Given the description of an element on the screen output the (x, y) to click on. 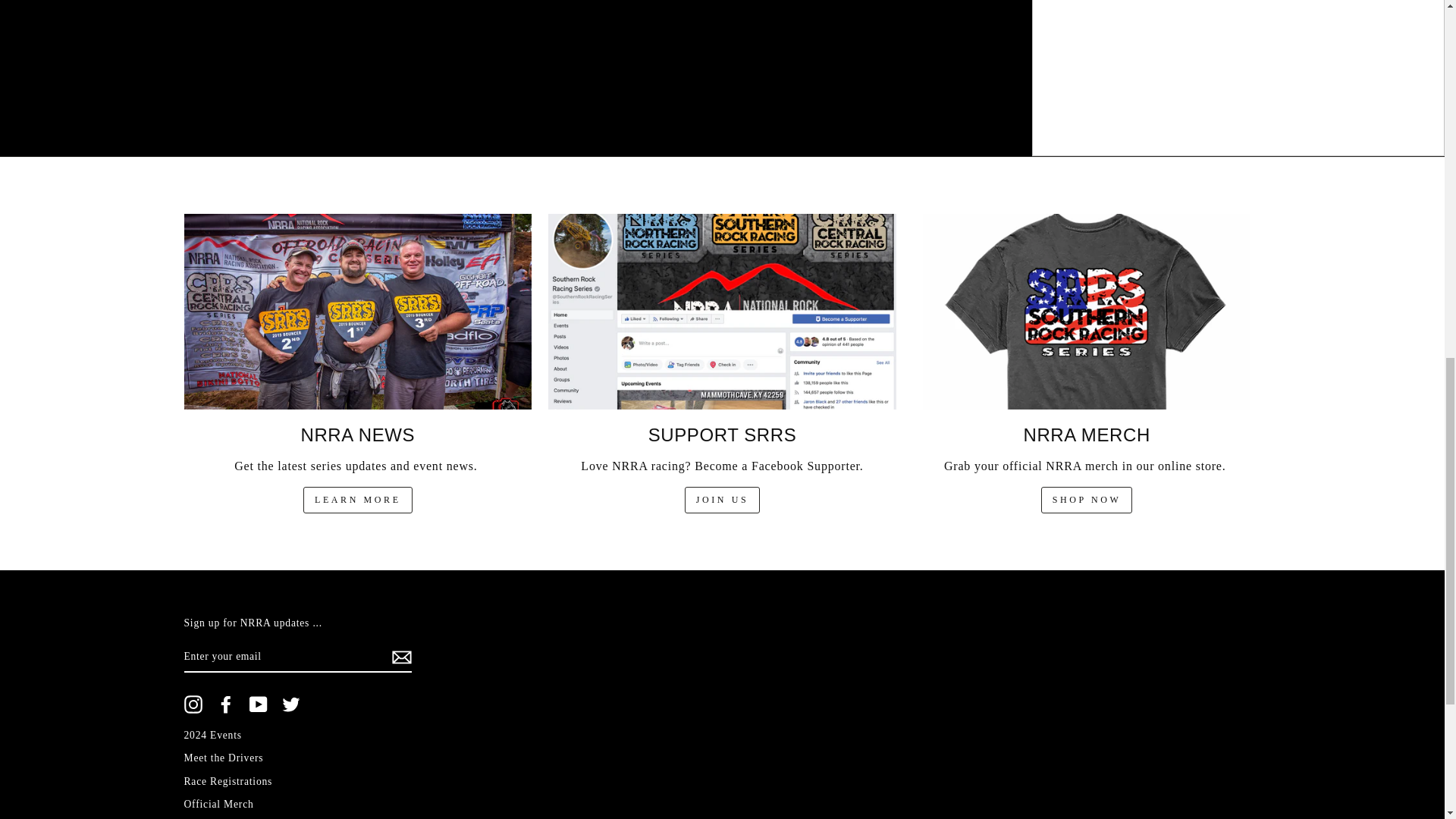
National Rock Racing Association on Facebook (225, 704)
National Rock Racing Association on YouTube (257, 704)
National Rock Racing Association on Instagram (192, 704)
National Rock Racing Association on Twitter (290, 704)
